Given the description of an element on the screen output the (x, y) to click on. 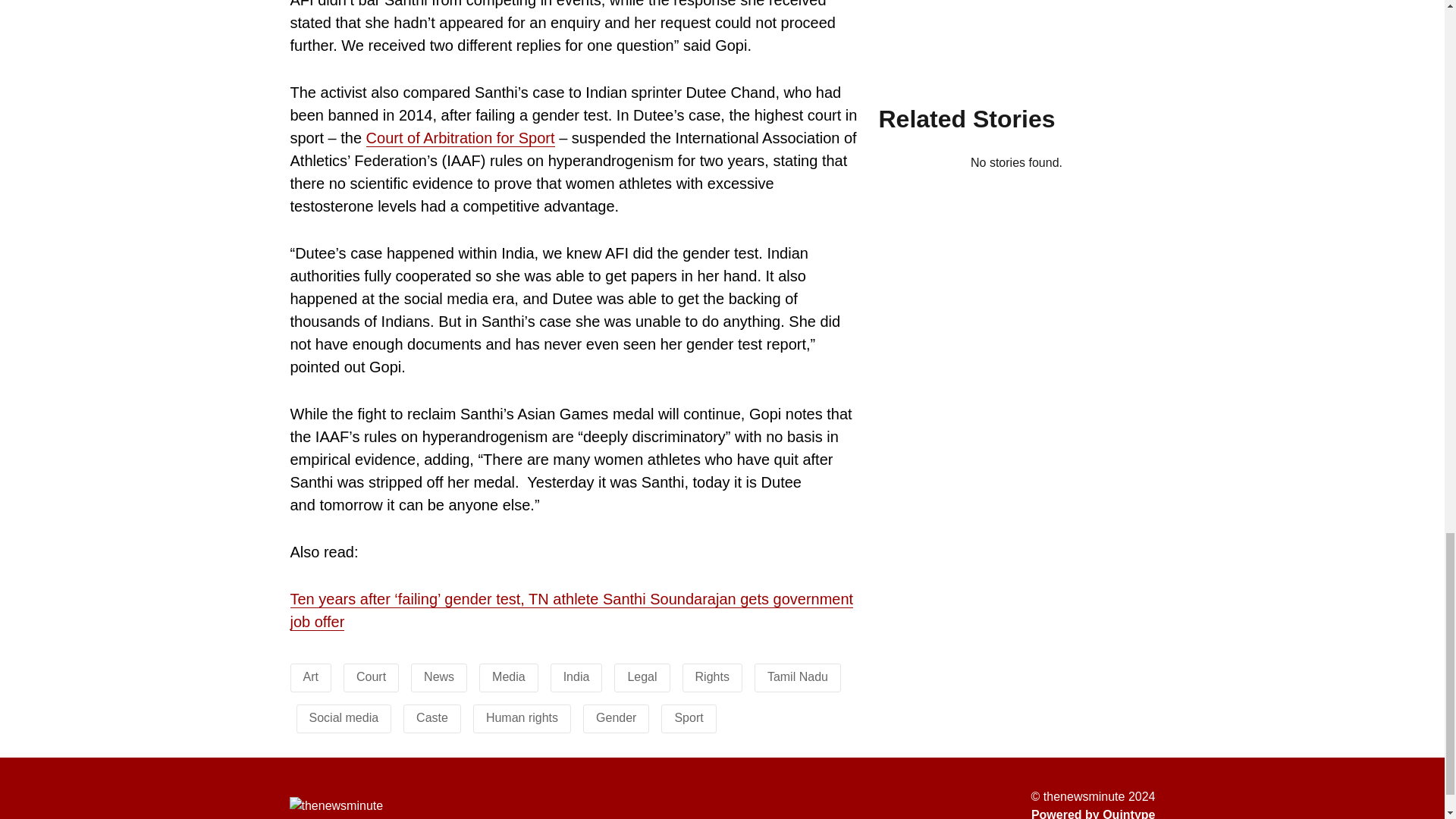
Social media (343, 717)
News (438, 676)
India (576, 676)
Legal (641, 676)
Caste (432, 717)
Powered by Quintype (1093, 812)
Art (310, 676)
Gender (615, 717)
Media (508, 676)
Sport (688, 717)
